Given the description of an element on the screen output the (x, y) to click on. 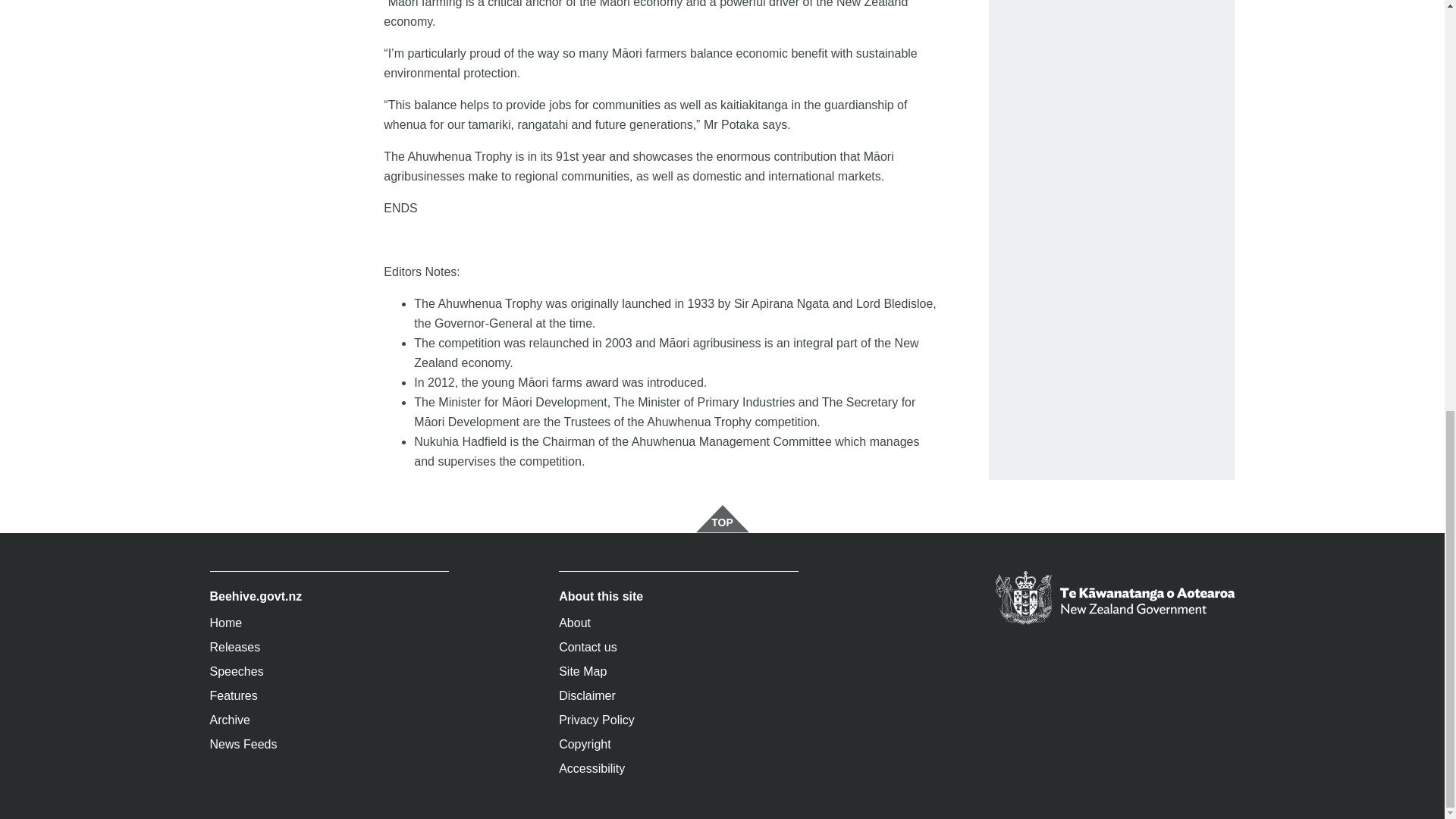
Features (328, 695)
About (678, 622)
TOP (722, 519)
Site Map (678, 671)
Disclaimer (678, 695)
News Feeds (328, 744)
Back to top of page (722, 519)
Home (328, 622)
Releases (328, 647)
Speeches (328, 671)
